Given the description of an element on the screen output the (x, y) to click on. 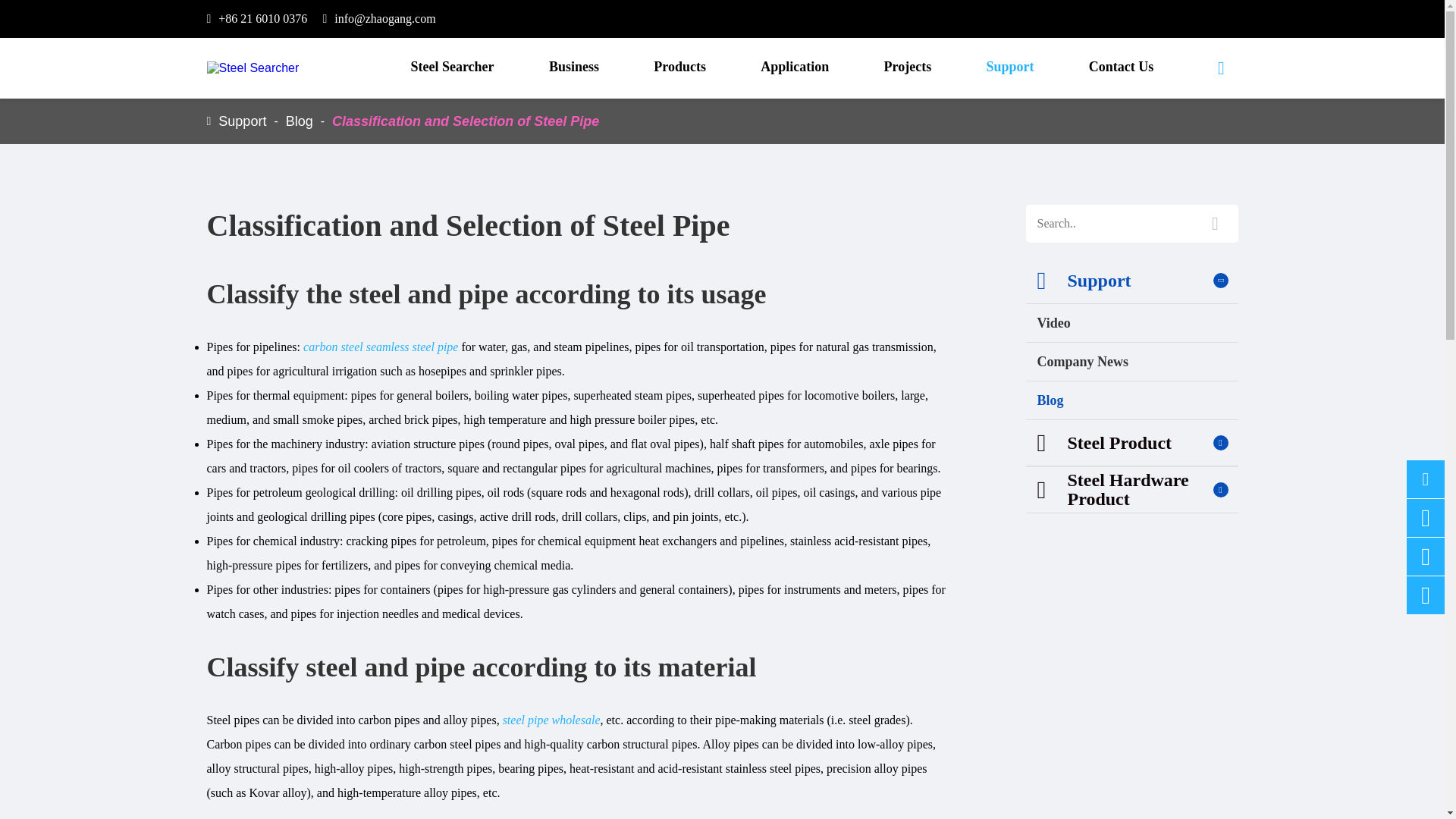
Steel Sheet (344, 107)
Steel Searcher (252, 68)
Construction (794, 117)
Steel Searcher (451, 67)
Products (679, 67)
Trade Services (573, 117)
Company Strength (980, 110)
Our History (378, 107)
Blog (299, 120)
Steel Hardware Product (979, 110)
Wire Mesh (1098, 107)
Nail (860, 107)
Projects (907, 67)
Company Profile (287, 110)
Business (574, 67)
